Given the description of an element on the screen output the (x, y) to click on. 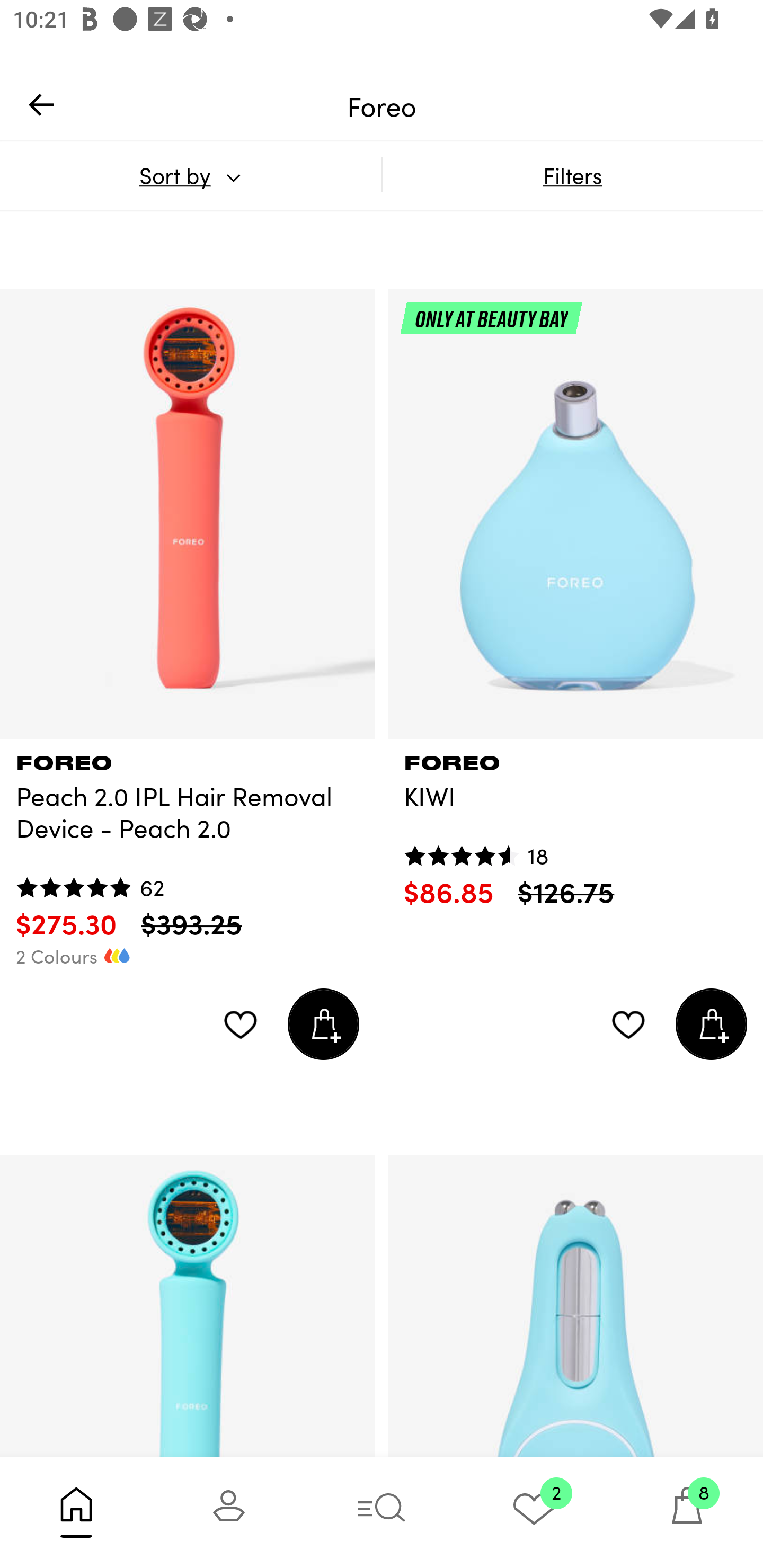
Sort by (190, 174)
Filters (572, 174)
FOREO KIWI 18 $86.85 $126.75 (575, 824)
2 (533, 1512)
8 (686, 1512)
